Given the description of an element on the screen output the (x, y) to click on. 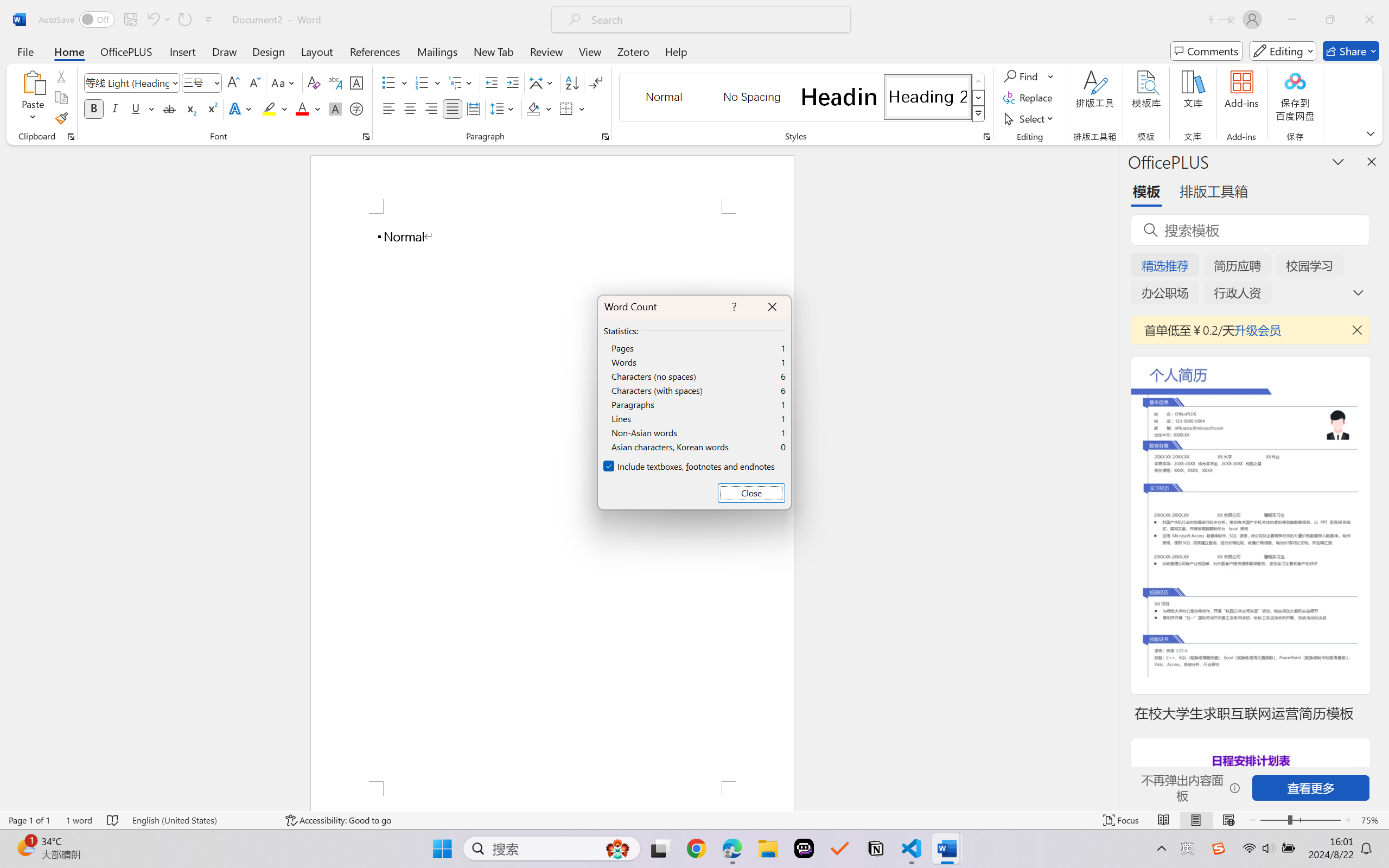
References (375, 51)
Language English (United States) (201, 819)
Include textboxes, footnotes and endnotes (689, 466)
Multilevel List (461, 82)
Bold (94, 108)
Mode (1283, 50)
Underline (135, 108)
AutomationID: BadgeAnchorLargeTicker (24, 847)
Center (409, 108)
Subscript (190, 108)
Align Left (388, 108)
Heading 2 (927, 96)
